Given the description of an element on the screen output the (x, y) to click on. 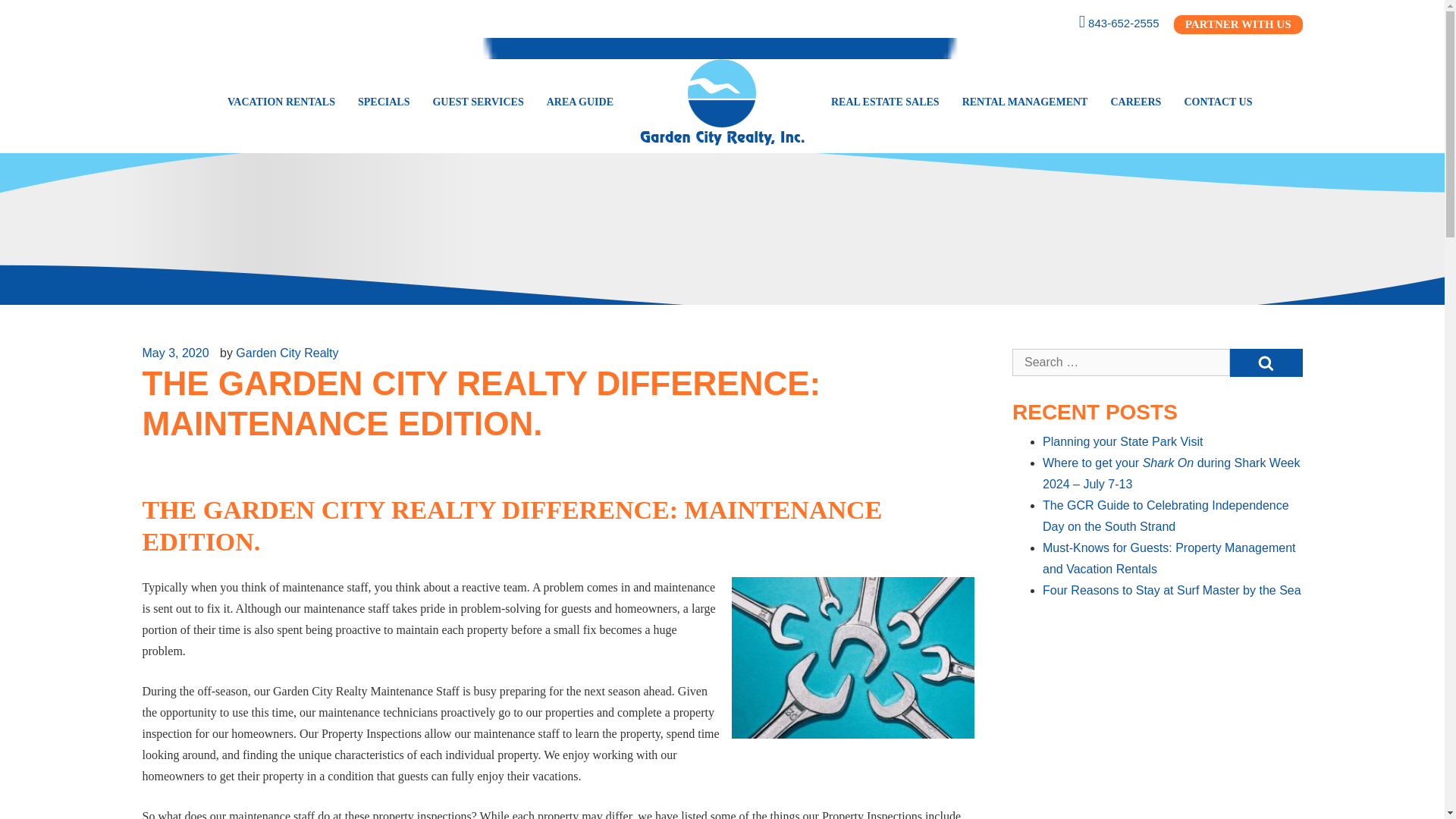
REAL ESTATE SALES (884, 102)
Garden City Realty (722, 101)
GUEST SERVICES (477, 102)
AREA GUIDE (579, 102)
VACATION RENTALS (280, 102)
SPECIALS (383, 102)
Garden City Realty (722, 47)
